Given the description of an element on the screen output the (x, y) to click on. 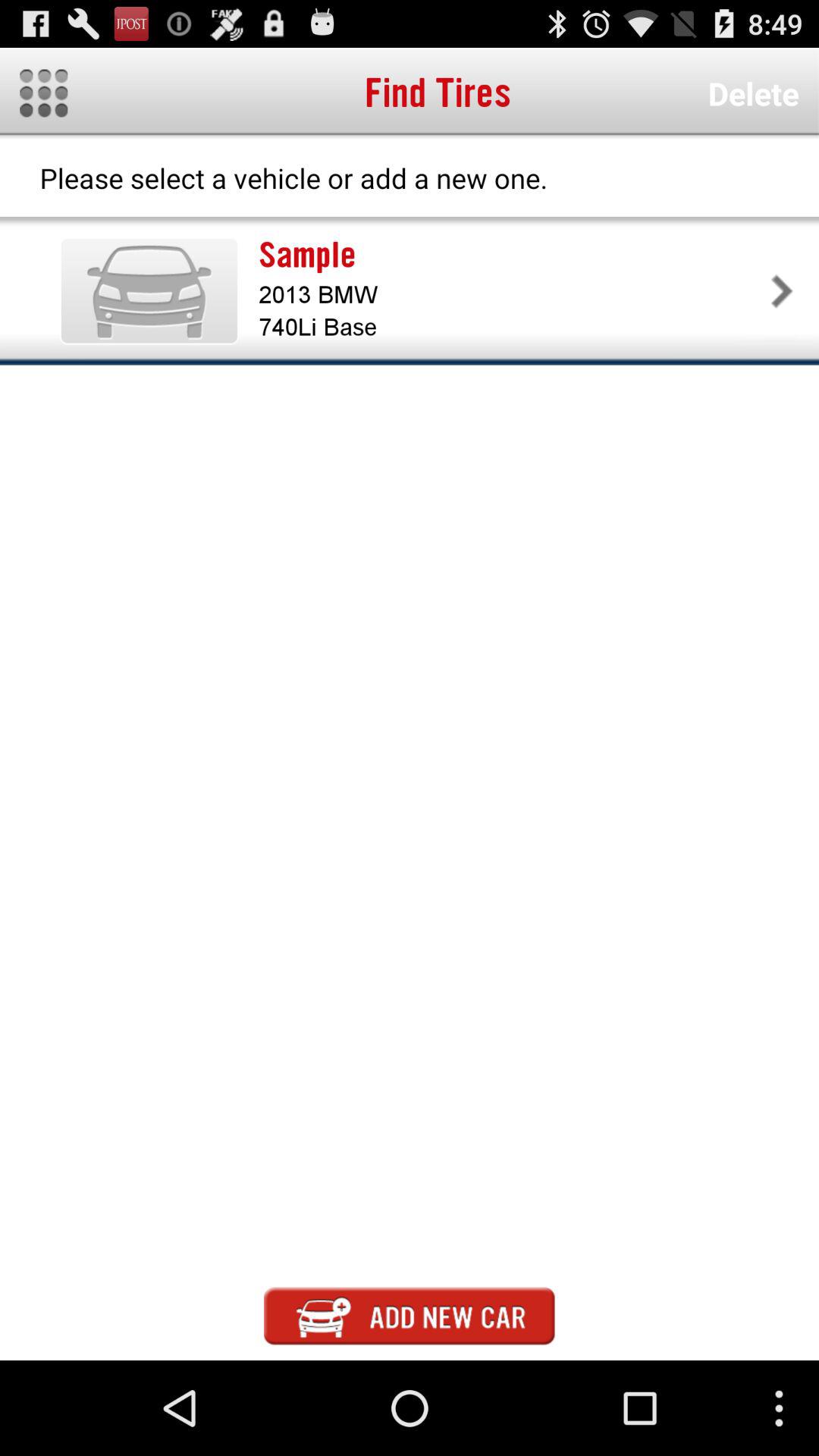
tap icon below the sample item (511, 294)
